Given the description of an element on the screen output the (x, y) to click on. 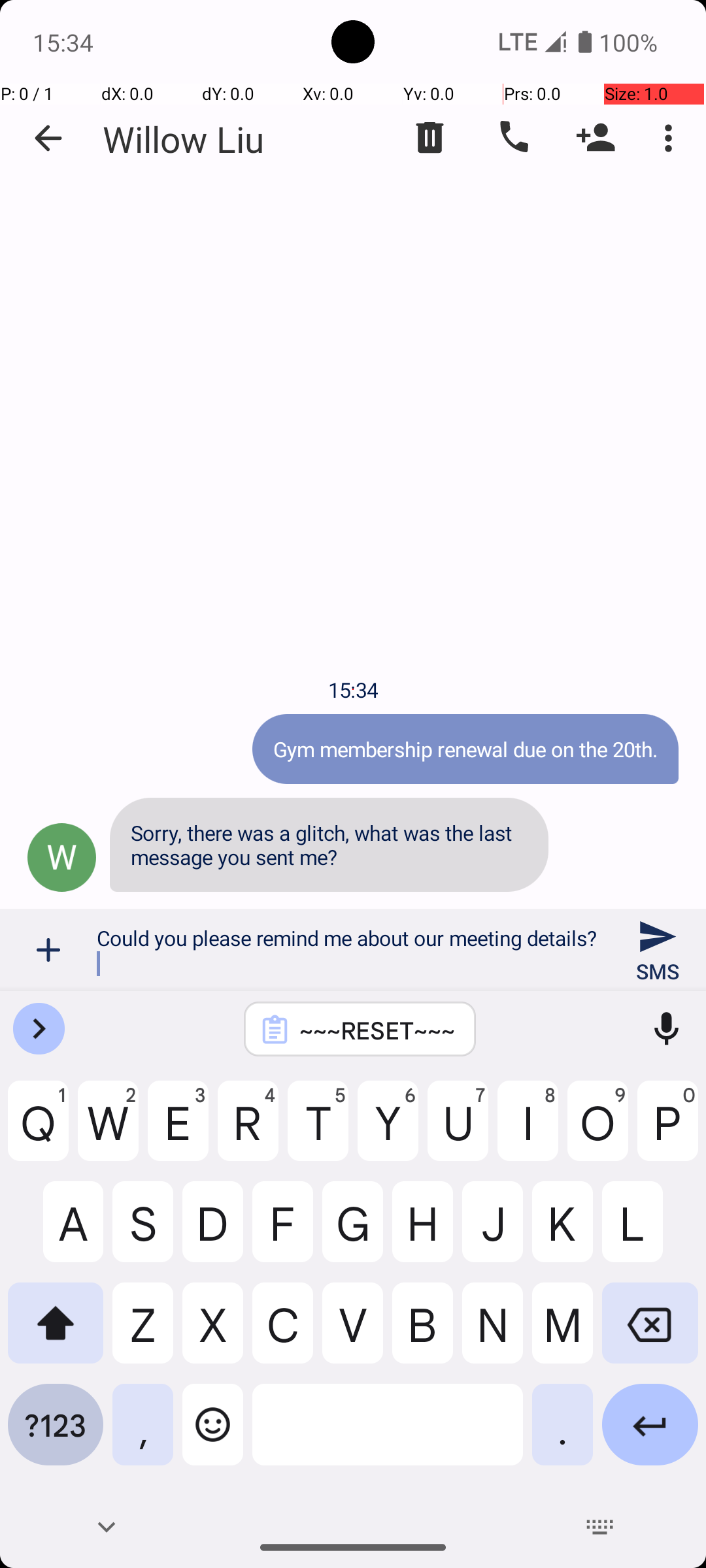
Willow Liu Element type: android.widget.TextView (183, 138)
Could you please remind me about our meeting details?
 Element type: android.widget.EditText (352, 949)
Gym membership renewal due on the 20th. Element type: android.widget.TextView (465, 749)
